Given the description of an element on the screen output the (x, y) to click on. 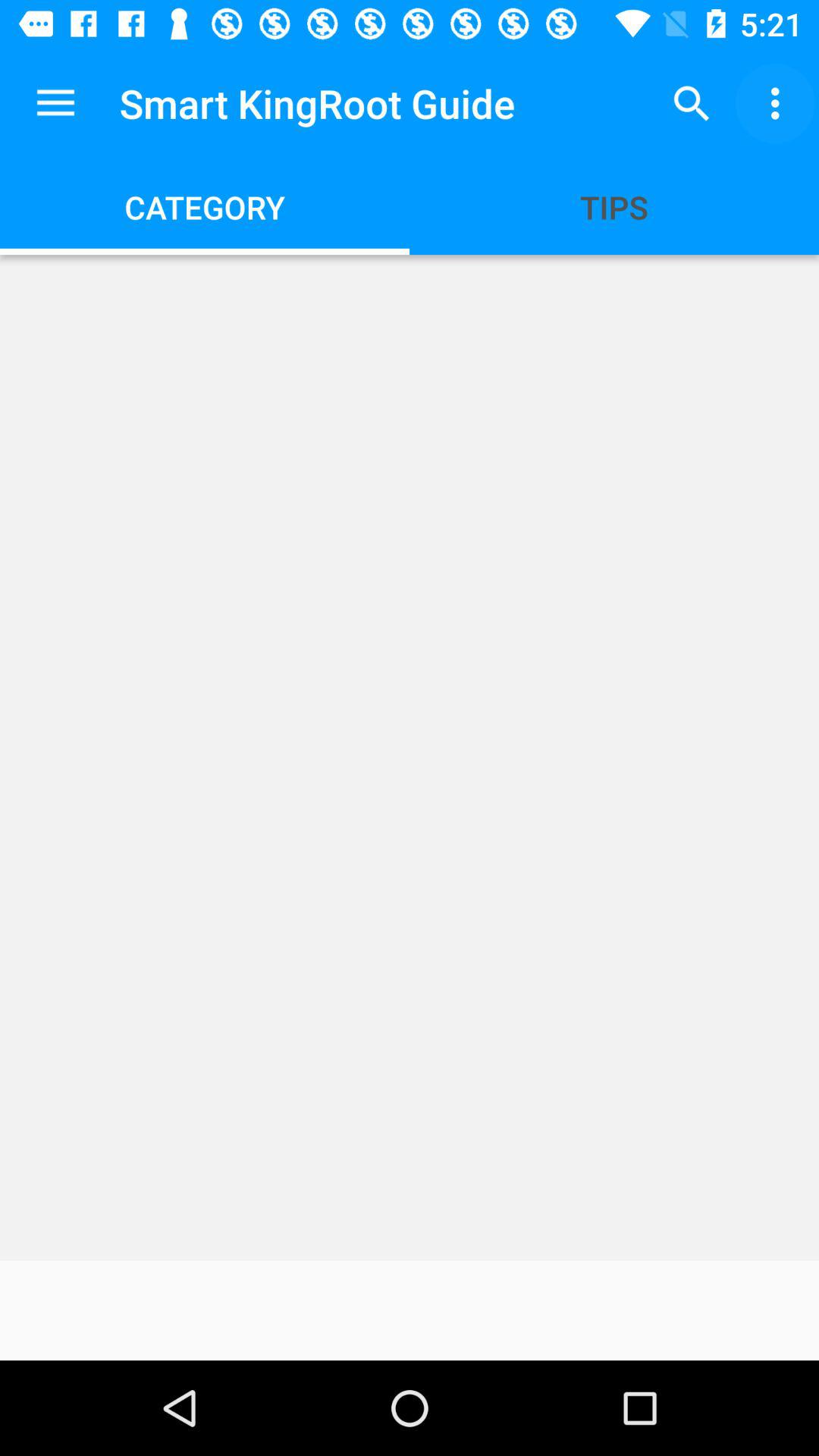
choose the app to the right of smart kingroot guide app (691, 103)
